Given the description of an element on the screen output the (x, y) to click on. 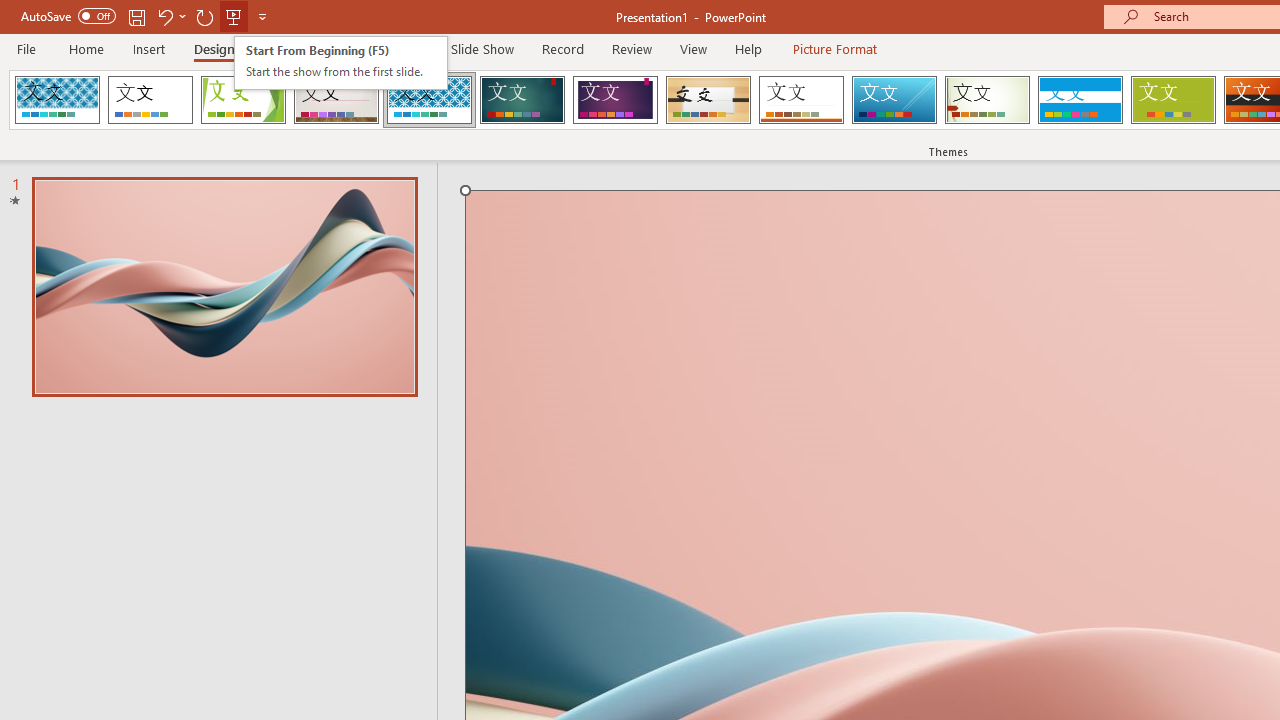
Integral (429, 100)
Picture Format (834, 48)
Retrospect (801, 100)
Office Theme (150, 100)
Ion (522, 100)
Basis (1172, 100)
